Given the description of an element on the screen output the (x, y) to click on. 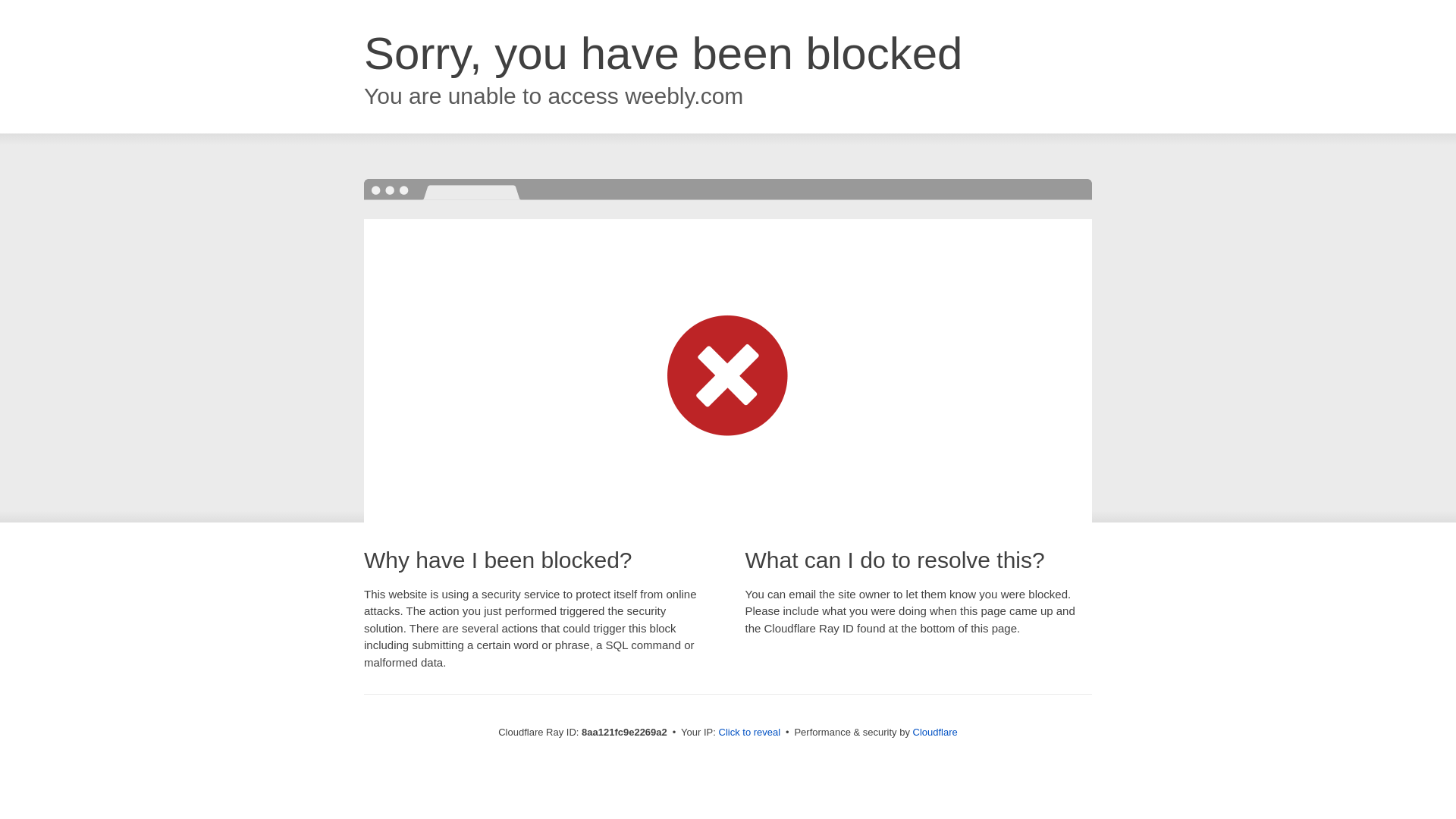
Click to reveal (749, 732)
Cloudflare (935, 731)
